Given the description of an element on the screen output the (x, y) to click on. 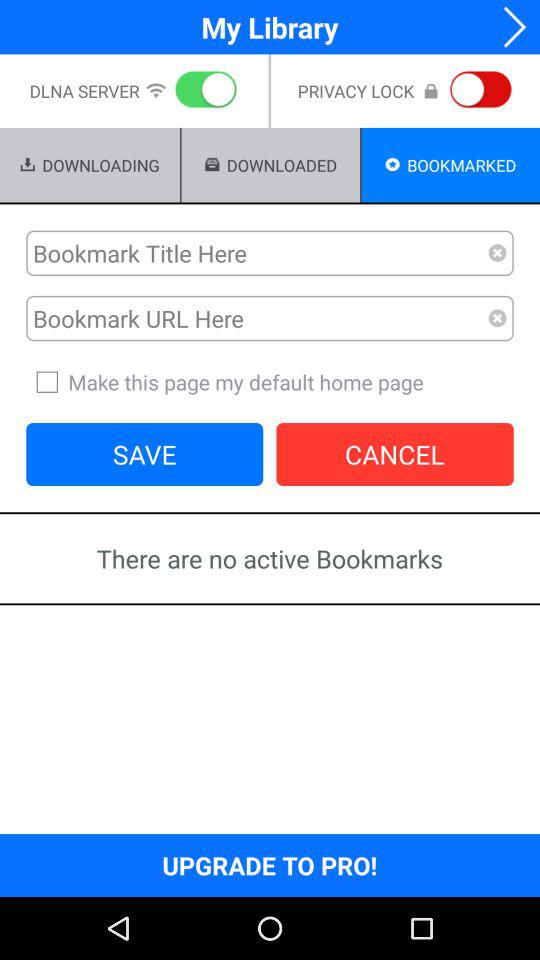
enter url bookmark (257, 318)
